Given the description of an element on the screen output the (x, y) to click on. 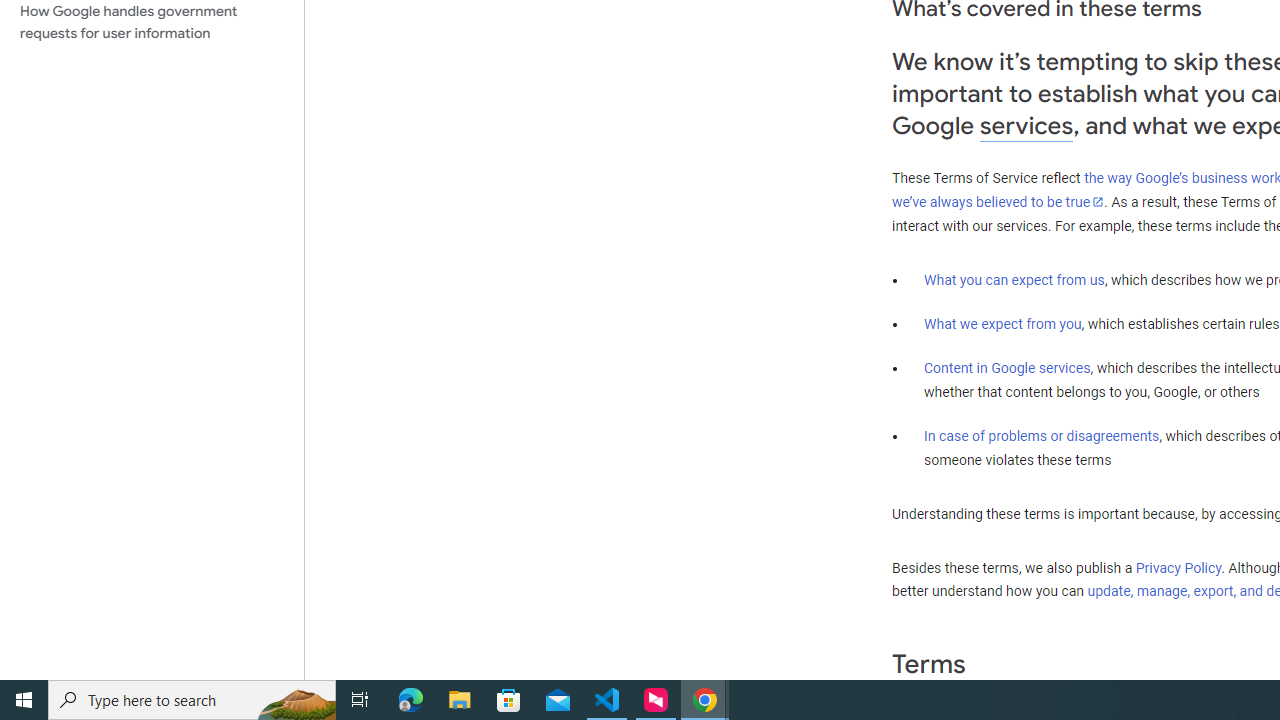
What we expect from you (1002, 323)
services (1026, 125)
What you can expect from us (1014, 279)
